Given the description of an element on the screen output the (x, y) to click on. 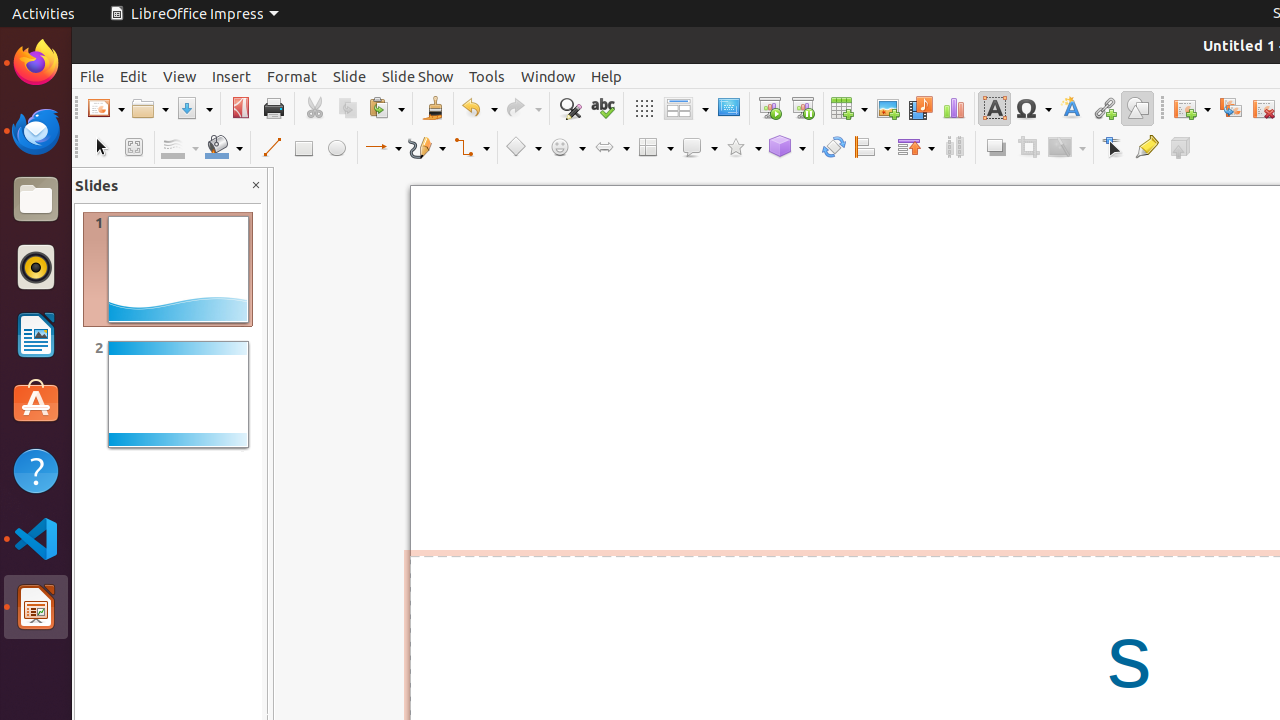
Copy Element type: push-button (347, 108)
Chart Element type: push-button (953, 108)
Thunderbird Mail Element type: push-button (36, 131)
Spelling Element type: push-button (602, 108)
Find & Replace Element type: toggle-button (569, 108)
